Given the description of an element on the screen output the (x, y) to click on. 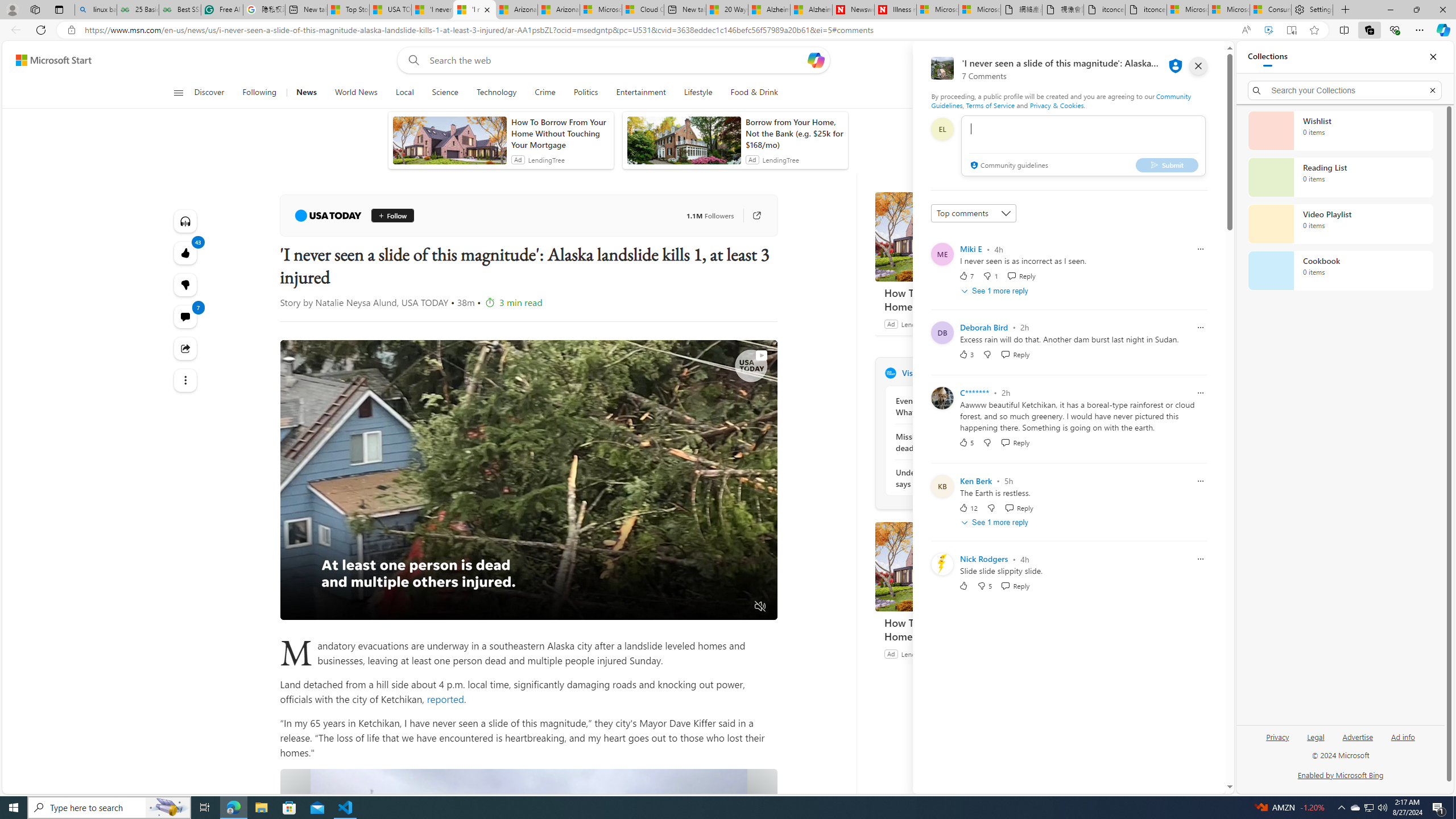
20 Ways to Boost Your Protein Intake at Every Meal (726, 9)
12 Like (967, 507)
Enter your search term (617, 59)
Ken Berk (975, 480)
Go to publisher's site (751, 215)
Reading List collection, 0 items (1339, 177)
25 Basic Linux Commands For Beginners - GeeksforGeeks (137, 9)
Class: at-item (184, 380)
